Given the description of an element on the screen output the (x, y) to click on. 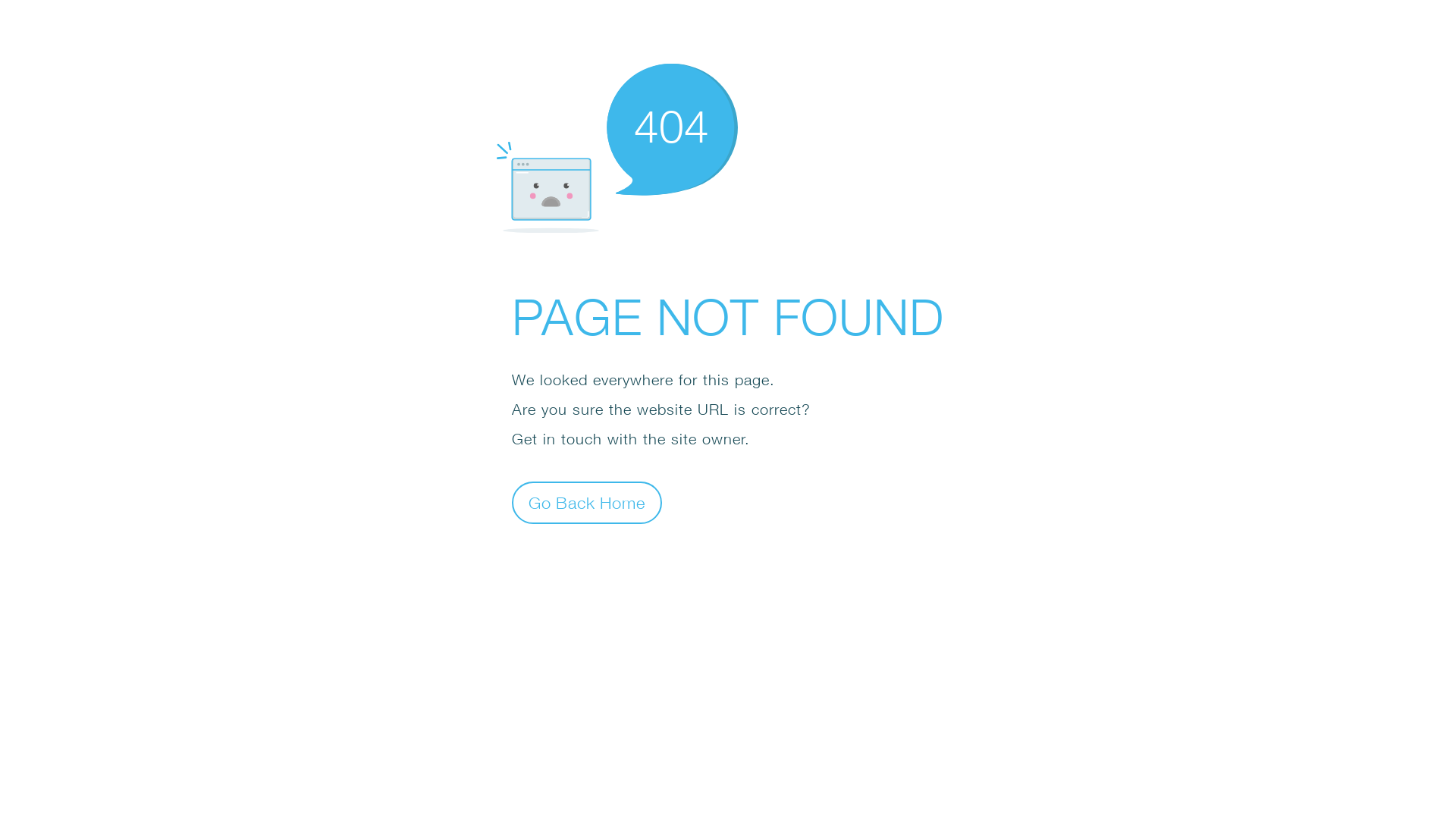
Go Back Home Element type: text (586, 502)
